Given the description of an element on the screen output the (x, y) to click on. 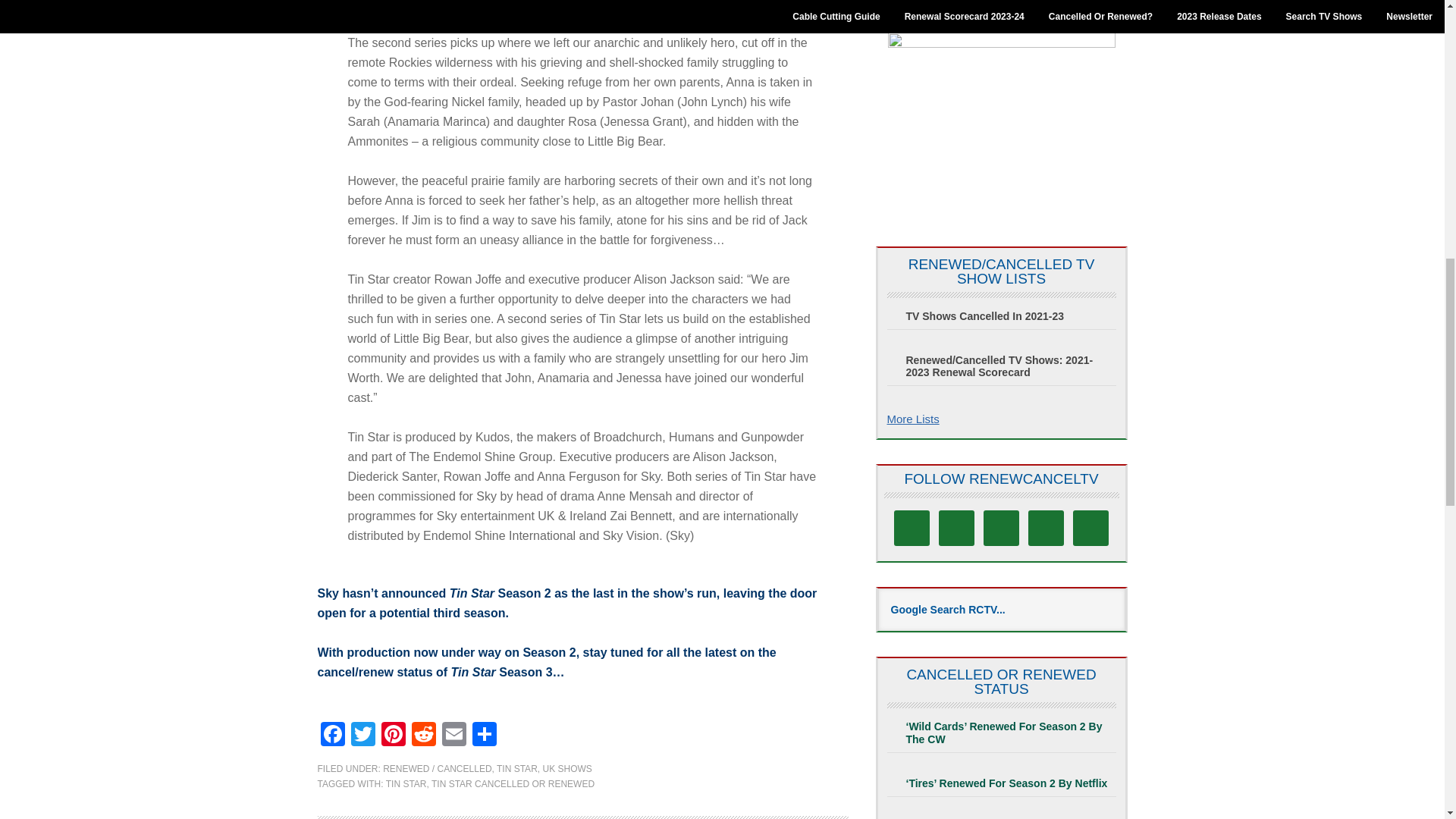
Email (453, 735)
Google Search RCTV... (1001, 609)
Pinterest (392, 735)
Google Search RCTV... (1001, 609)
Reddit (422, 735)
Twitter (362, 735)
Facebook (332, 735)
